Given the description of an element on the screen output the (x, y) to click on. 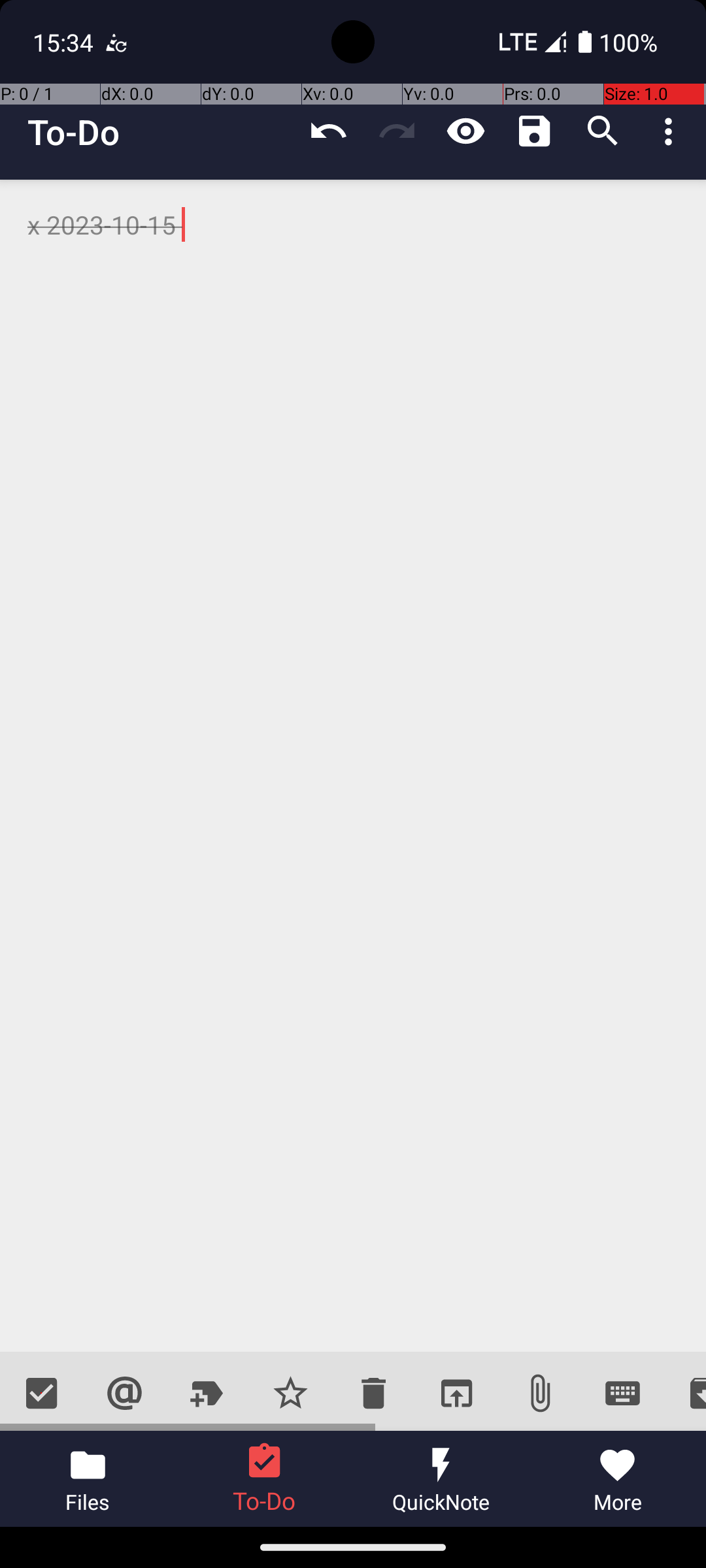
x 2023-10-15  Element type: android.widget.EditText (353, 765)
